Given the description of an element on the screen output the (x, y) to click on. 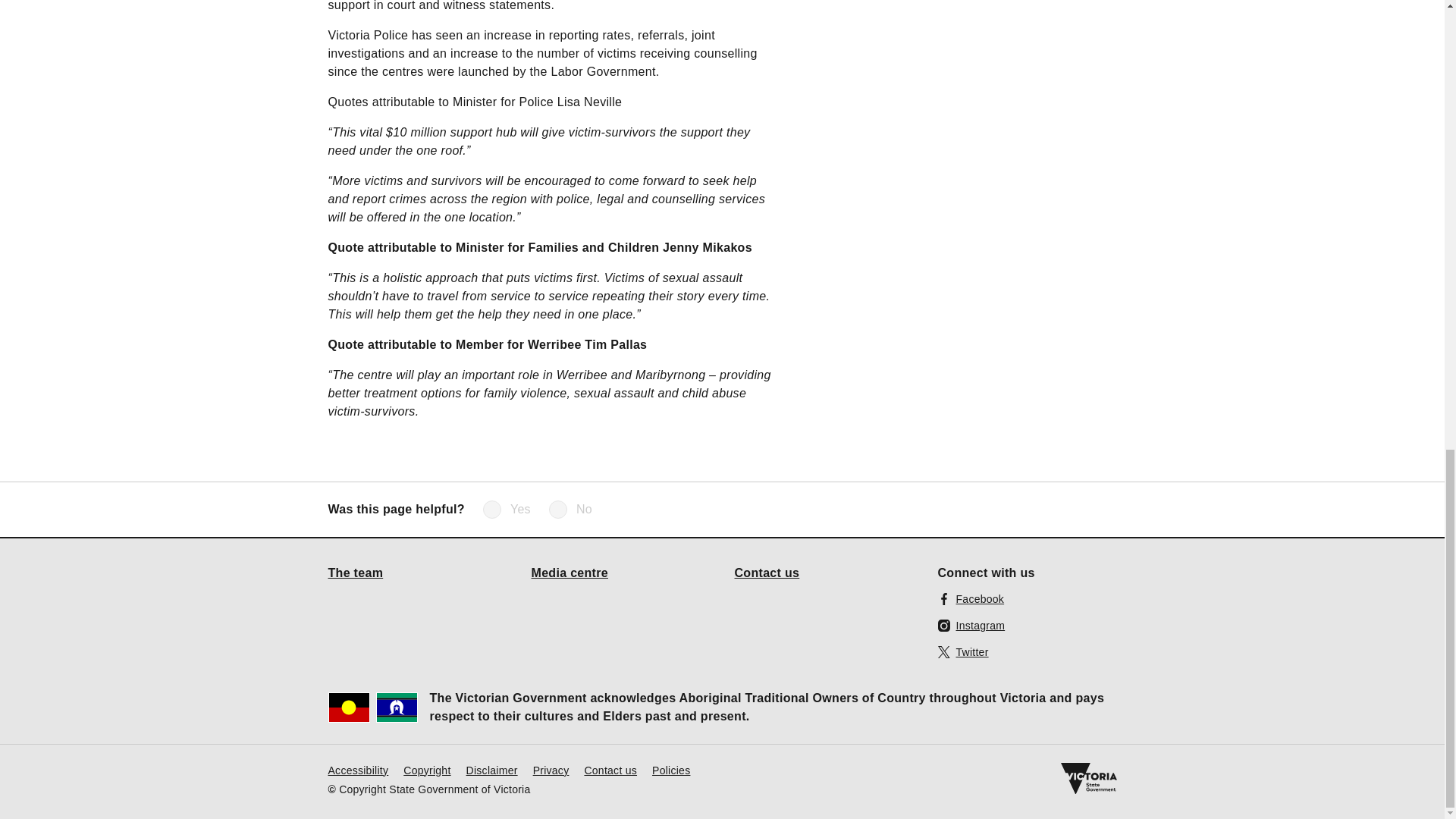
Contact us (610, 769)
Instagram (970, 625)
Disclaimer (491, 769)
Accessibility (357, 769)
Twitter (962, 651)
Facebook (970, 598)
The team (354, 572)
Media centre (569, 572)
Contact us (766, 572)
Copyright (426, 769)
Victoria government home (1087, 778)
Policies (671, 769)
Privacy (550, 769)
